Given the description of an element on the screen output the (x, y) to click on. 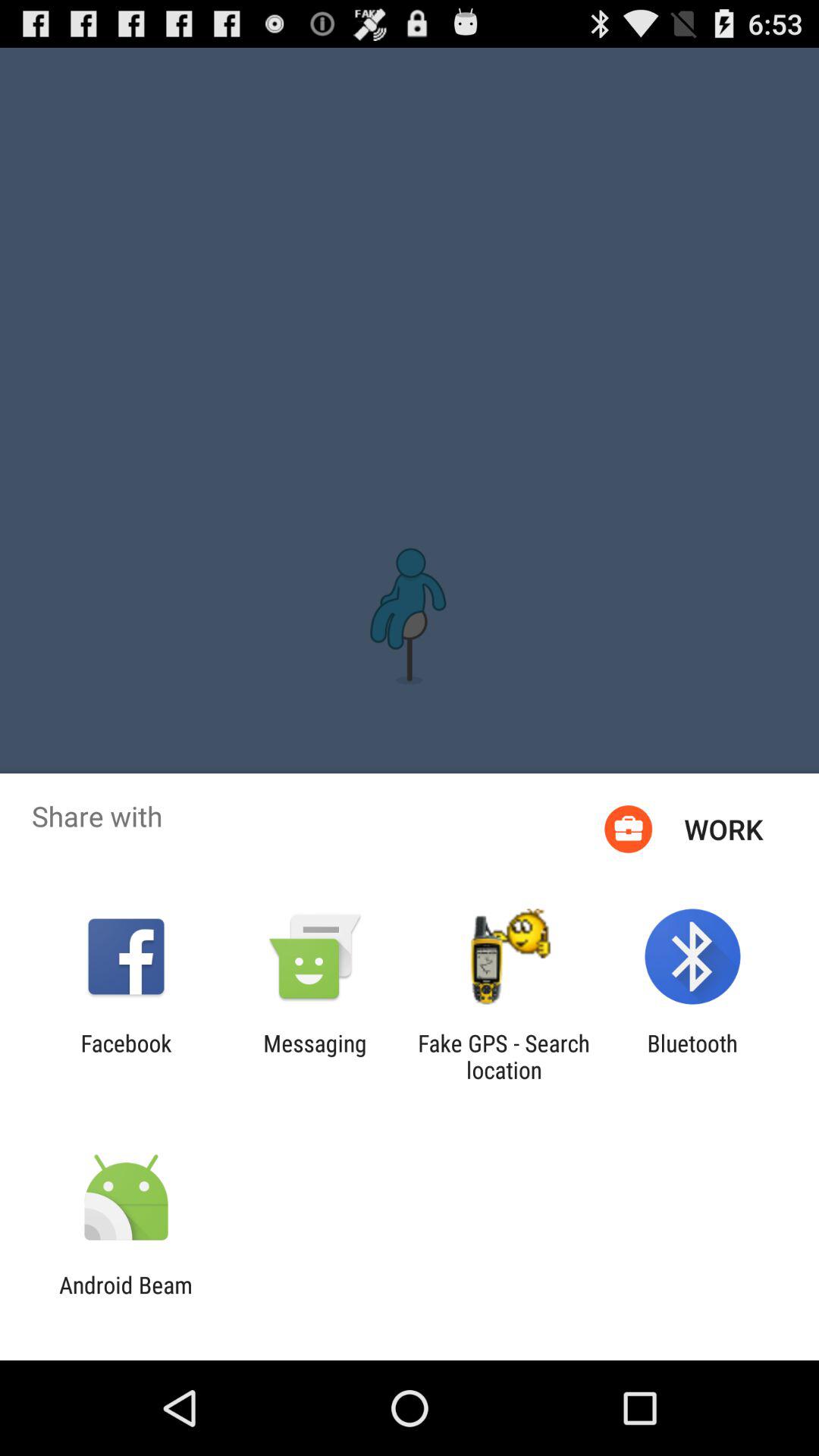
press app to the right of facebook app (314, 1056)
